Given the description of an element on the screen output the (x, y) to click on. 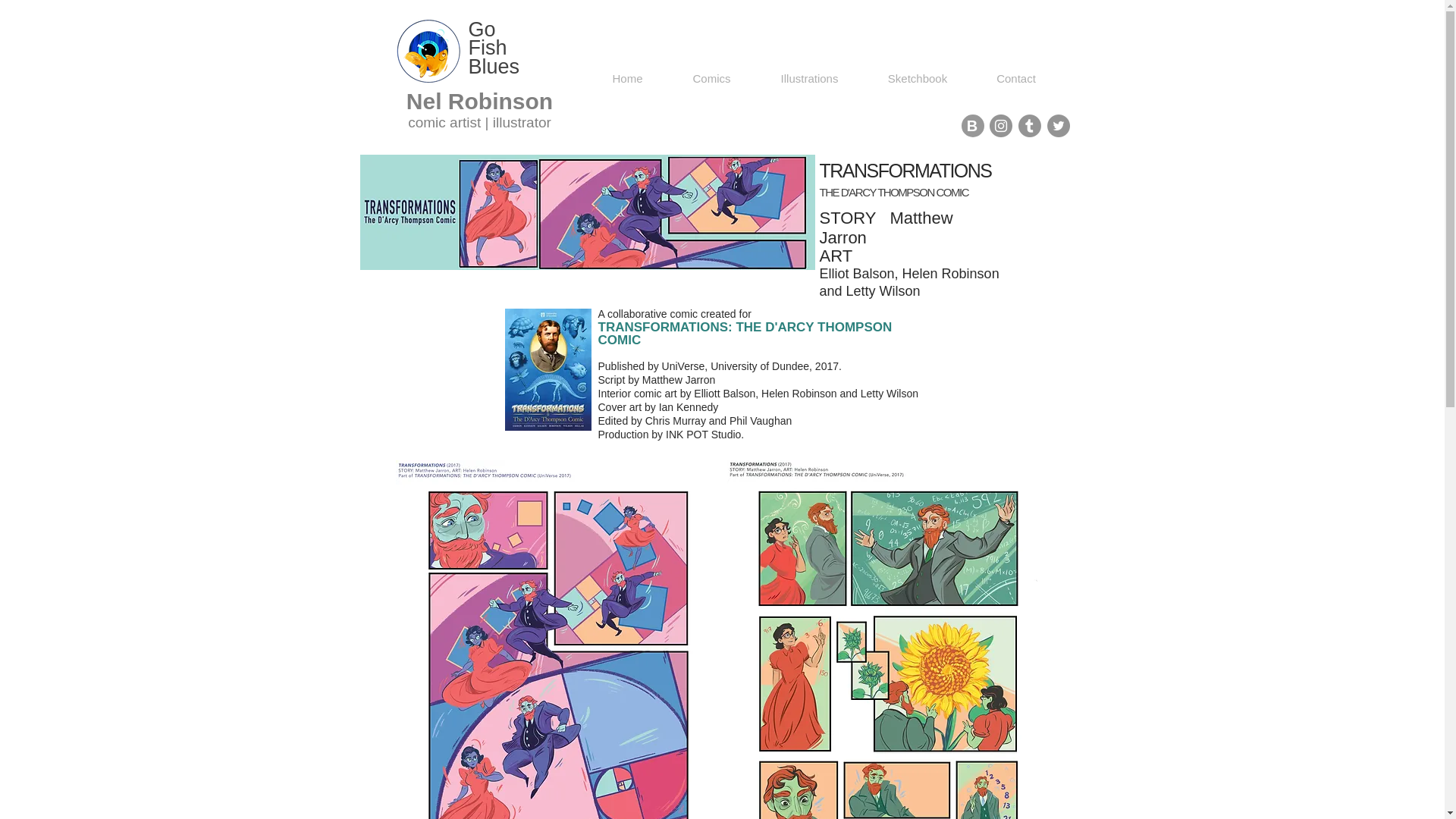
TRANSFORMATIONS (887, 639)
Home (626, 78)
Illustrations (809, 78)
Sketchbook (917, 78)
TRANSFORMATIONS (556, 639)
B (972, 125)
Comics (710, 78)
Contact (1016, 78)
